Given the description of an element on the screen output the (x, y) to click on. 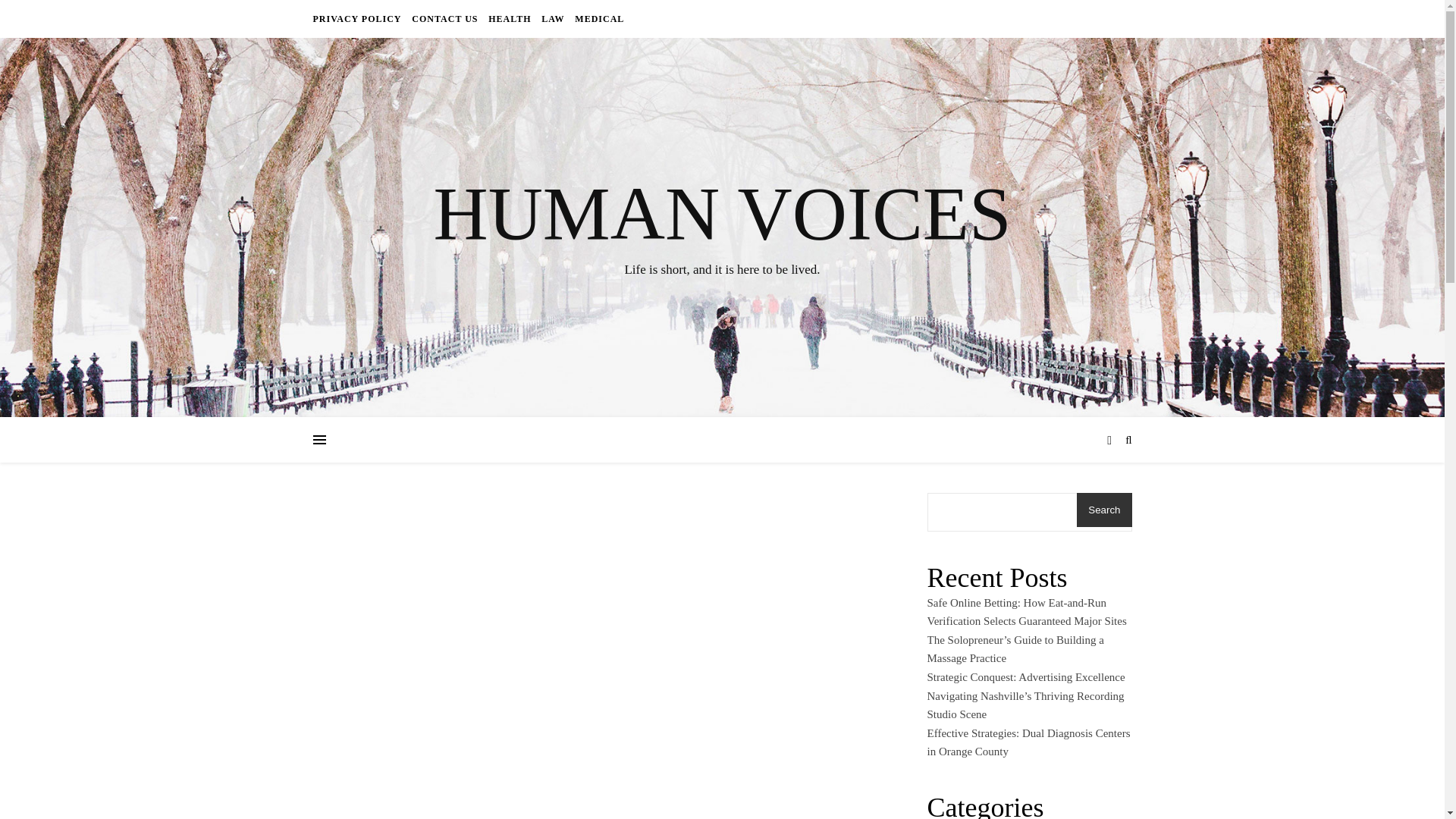
CONTACT US (444, 18)
MEDICAL (597, 18)
Strategic Conquest: Advertising Excellence (1025, 676)
PRIVACY POLICY (358, 18)
HEALTH (509, 18)
LAW (552, 18)
Search (1104, 510)
